Given the description of an element on the screen output the (x, y) to click on. 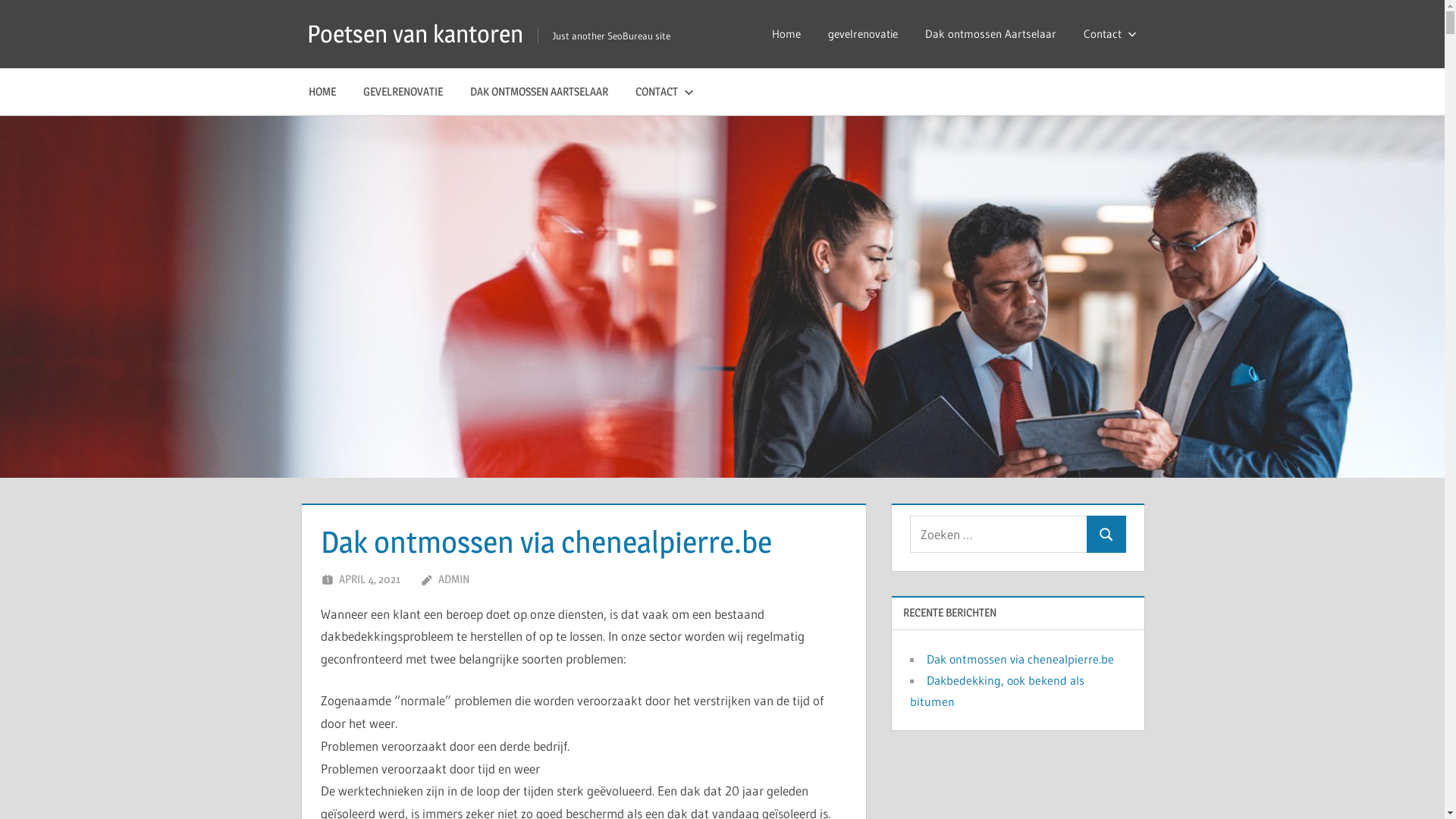
Zoeken Element type: text (1105, 533)
CONTACT Element type: text (661, 91)
HOME Element type: text (321, 91)
Dak ontmossen Aartselaar Element type: text (990, 33)
APRIL 4, 2021 Element type: text (369, 578)
DAK ONTMOSSEN AARTSELAAR Element type: text (538, 91)
Zoeken naar: Element type: hover (998, 533)
Poetsen van kantoren Element type: text (415, 33)
Home Element type: text (786, 33)
gevelrenovatie Element type: text (862, 33)
Contact Element type: text (1106, 33)
Dak ontmossen via chenealpierre.be Element type: text (1019, 658)
GEVELRENOVATIE Element type: text (402, 91)
Dakbedekking, ook bekend als bitumen Element type: text (997, 690)
ADMIN Element type: text (453, 578)
